Given the description of an element on the screen output the (x, y) to click on. 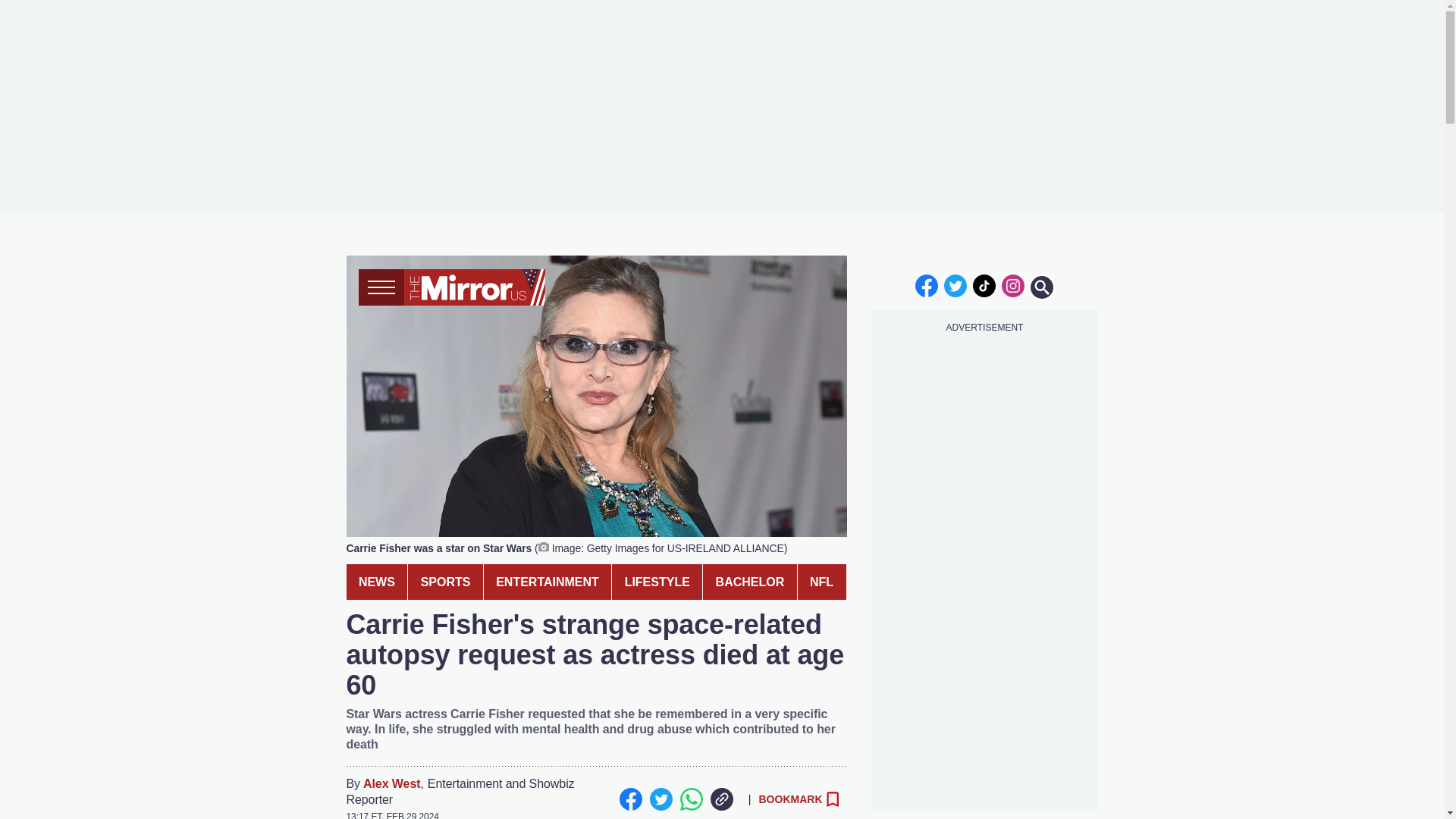
facebook (926, 285)
NEWS (376, 581)
NFL (821, 581)
SPORTS (445, 581)
Whatsapp (690, 798)
ENTERTAINMENT (547, 581)
twitter (955, 285)
tiktok (984, 285)
Twitter (660, 798)
Alex West (391, 784)
Facebook (630, 798)
BACHELOR (749, 581)
LIFESTYLE (656, 581)
instagram (1012, 285)
